Given the description of an element on the screen output the (x, y) to click on. 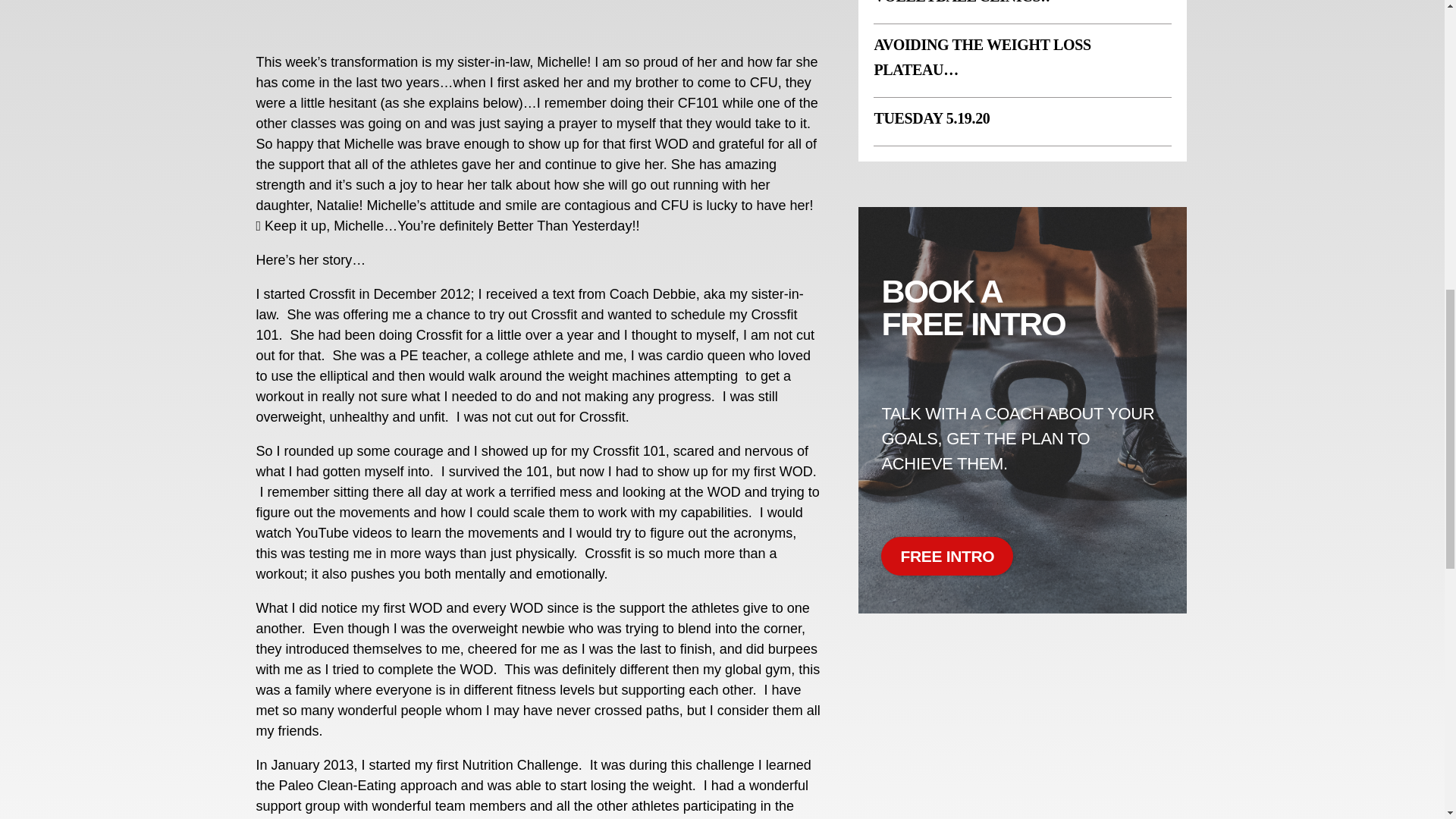
FREE INTRO (946, 556)
TUESDAY 5.19.20 (931, 117)
VOLLEYBALL CLINICS!! (961, 2)
